Given the description of an element on the screen output the (x, y) to click on. 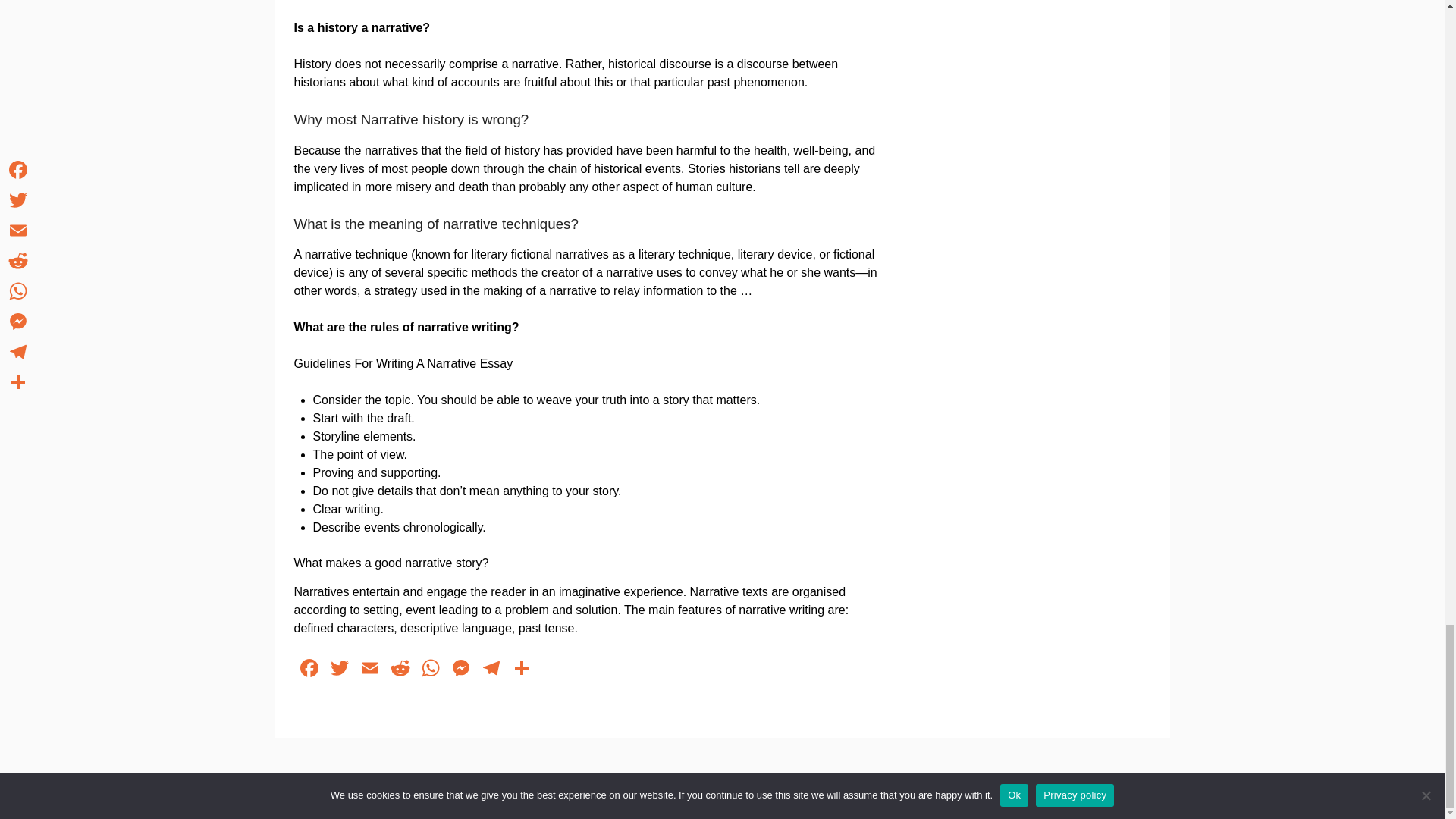
Facebook (309, 669)
Twitter (339, 669)
Email (370, 669)
Telegram (491, 669)
Twitter (339, 669)
Messenger (460, 669)
WhatsApp (429, 669)
Messenger (460, 669)
Reddit (399, 669)
WhatsApp (429, 669)
